Given the description of an element on the screen output the (x, y) to click on. 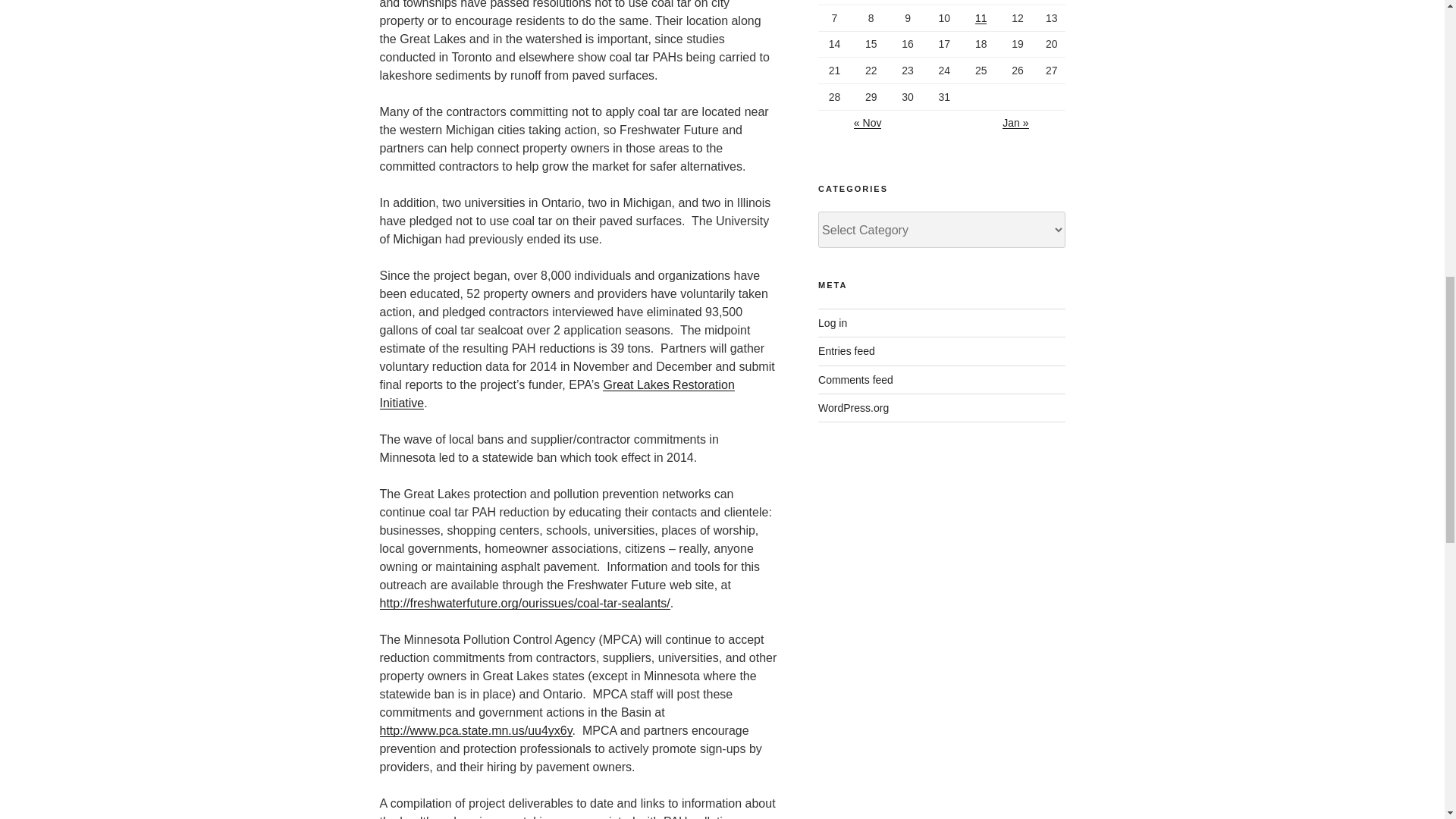
Log in (832, 322)
11 (981, 18)
Great Lakes Restoration Initiative (555, 393)
WordPress.org (853, 408)
Comments feed (855, 379)
Entries feed (846, 350)
